Given the description of an element on the screen output the (x, y) to click on. 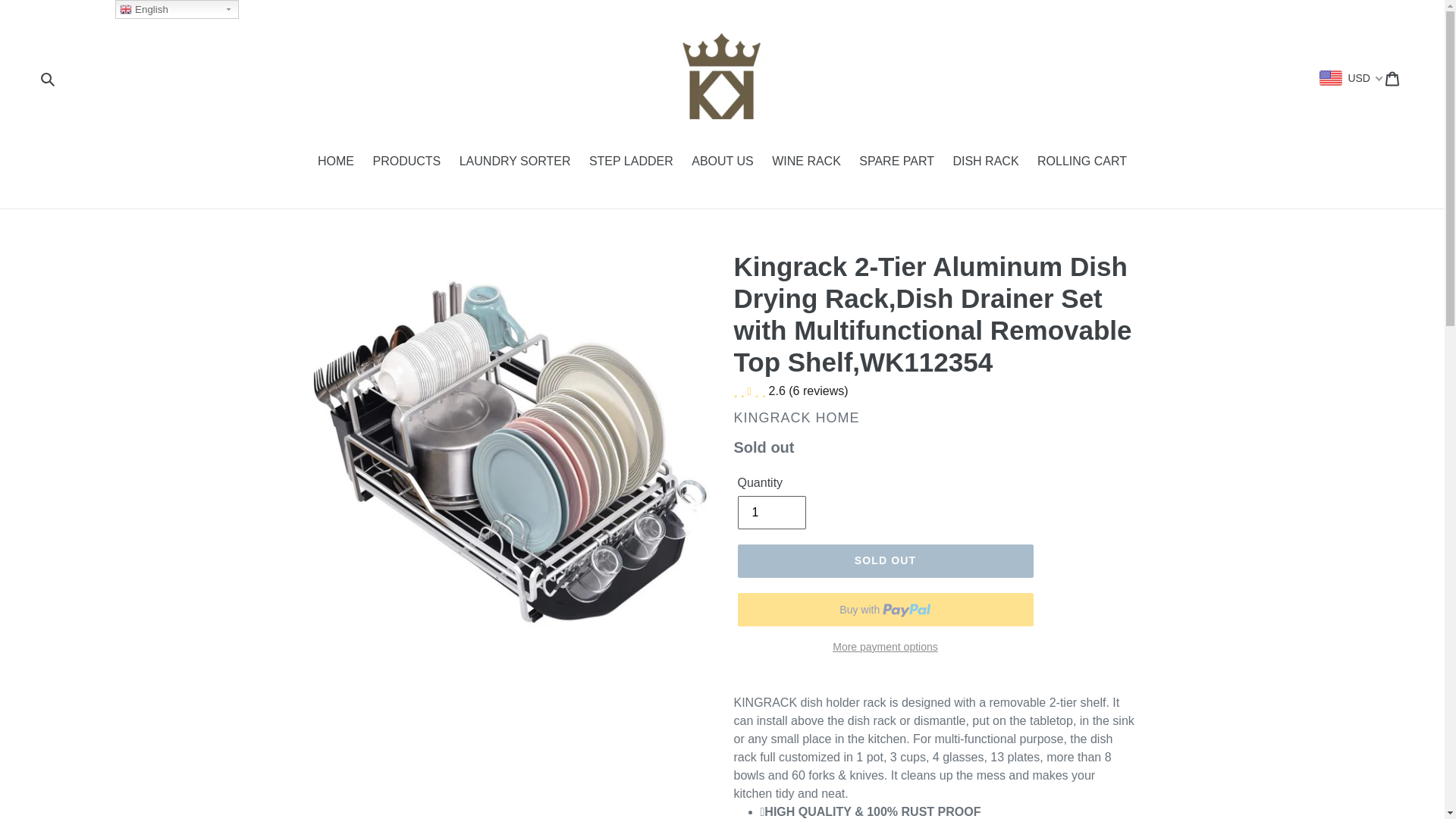
1 (770, 512)
SOLD OUT (884, 561)
PRODUCTS (406, 162)
HOME (335, 162)
Submit (47, 78)
ABOUT US (722, 162)
LAUNDRY SORTER (514, 162)
Cart (1392, 78)
More payment options (884, 647)
DISH RACK (985, 162)
SPARE PART (896, 162)
ROLLING CART (1081, 162)
STEP LADDER (630, 162)
WINE RACK (806, 162)
